Given the description of an element on the screen output the (x, y) to click on. 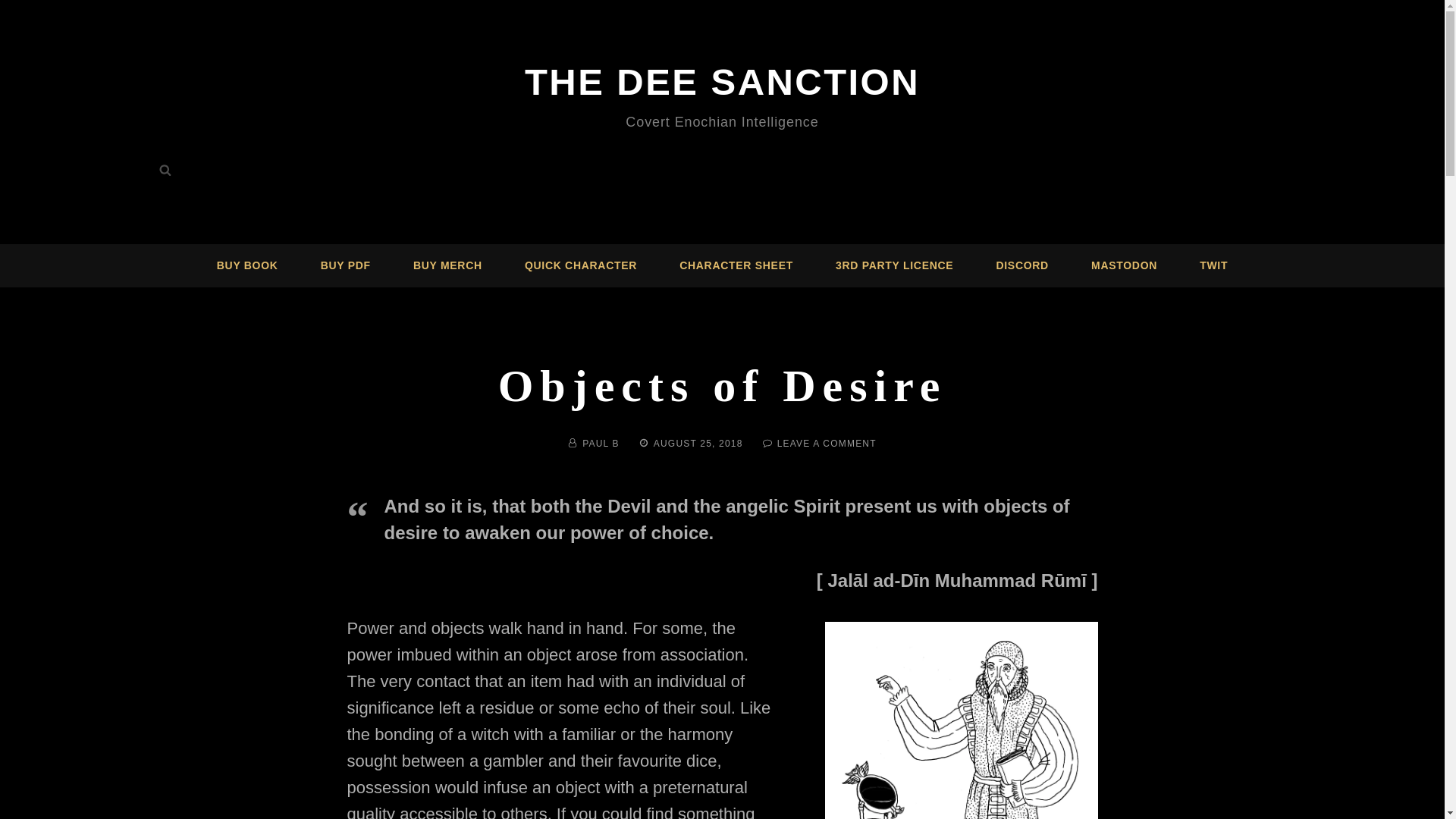
CHARACTER SHEET (736, 265)
AUGUST 25, 2018 (697, 443)
DISCORD (1021, 265)
THE DEE SANCTION (722, 81)
PAUL B (601, 443)
Search (826, 443)
BUY MERCH (164, 169)
TWIT (447, 265)
QUICK CHARACTER (1213, 265)
MASTODON (580, 265)
3RD PARTY LICENCE (1123, 265)
BUY PDF (894, 265)
BUY BOOK (345, 265)
